Given the description of an element on the screen output the (x, y) to click on. 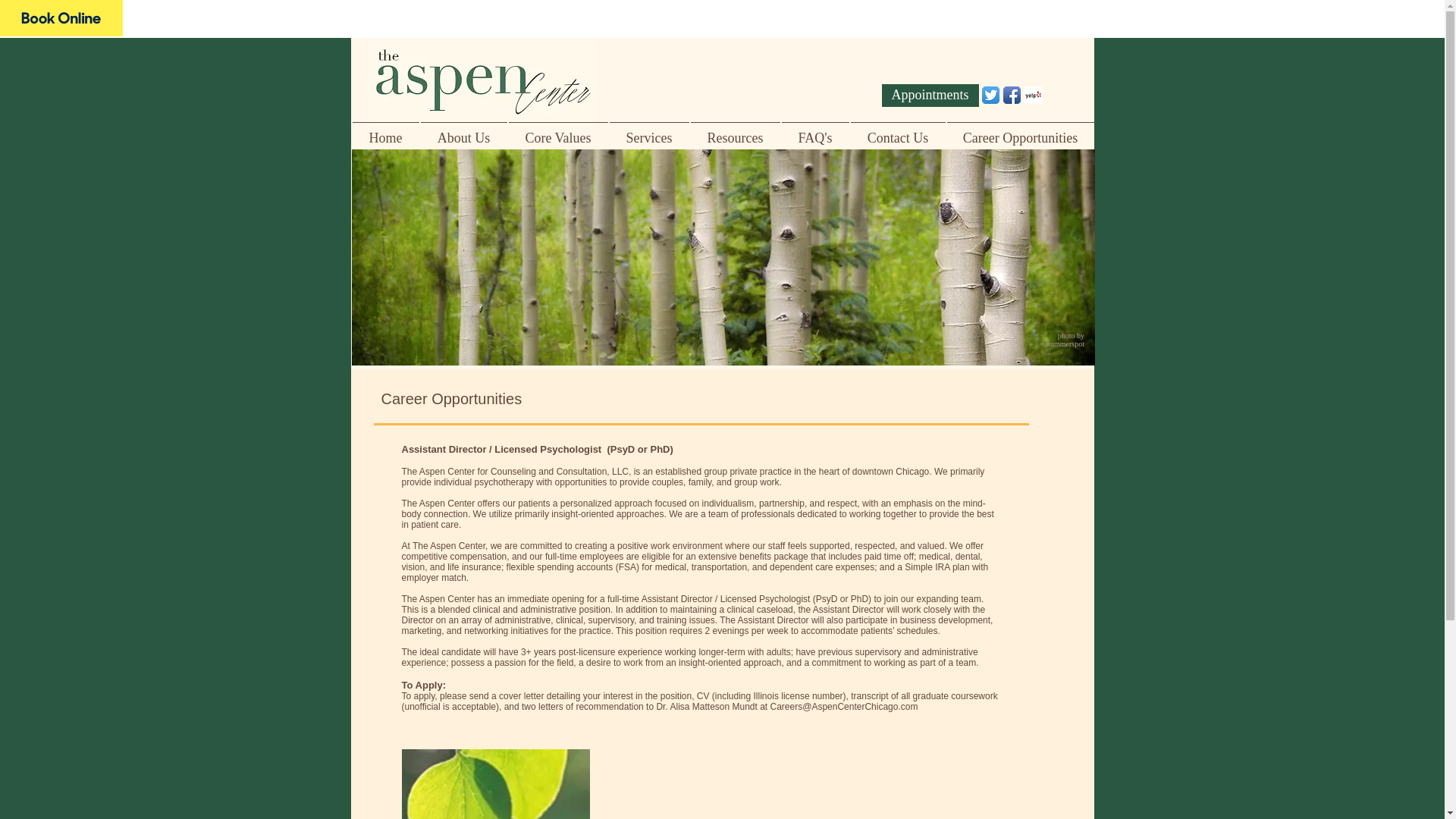
The Aspen Center (61, 18)
Appointments (929, 95)
Services (648, 131)
Core Values (558, 131)
Home (386, 131)
Career Opportunities (1020, 131)
summerspot  (1066, 343)
About Us (464, 131)
Contact Us (896, 131)
FAQ's (815, 131)
Resources (735, 131)
photo by  (1072, 335)
